Given the description of an element on the screen output the (x, y) to click on. 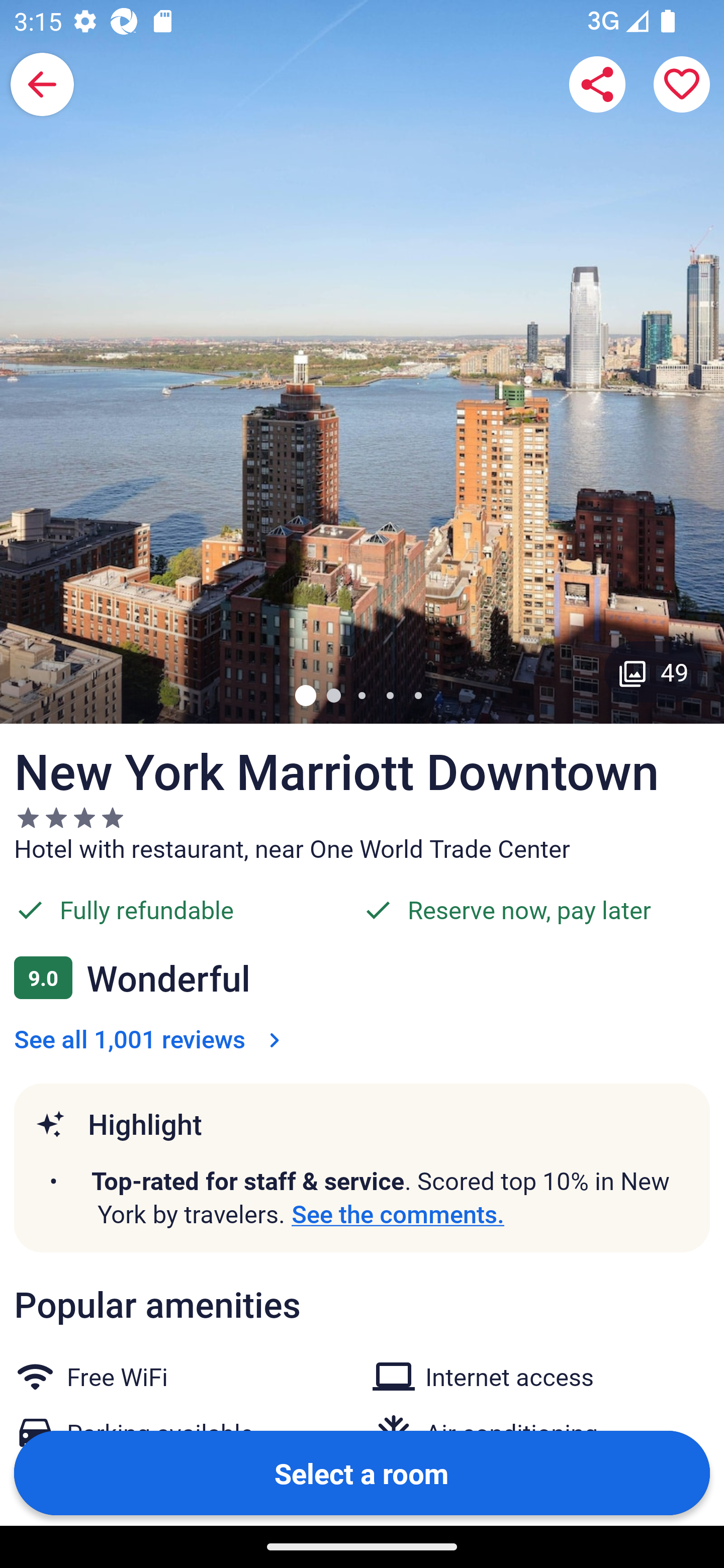
Back (42, 84)
Save property to a trip (681, 84)
Share New York Marriott Downtown (597, 84)
Gallery button with 49 images (653, 671)
See all 1,001 reviews See all 1,001 reviews Link (150, 1038)
Select a room Button Select a room (361, 1472)
